Given the description of an element on the screen output the (x, y) to click on. 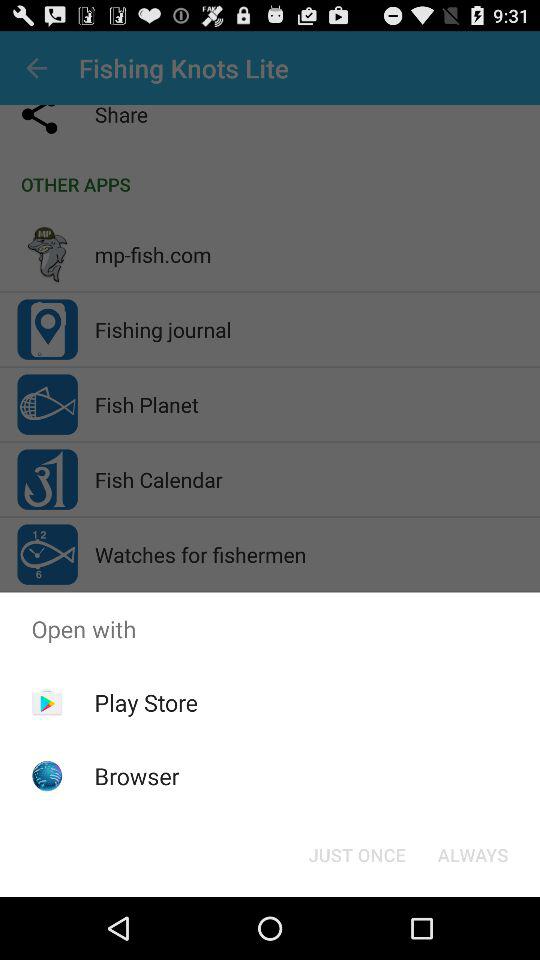
press app below the open with app (146, 702)
